Given the description of an element on the screen output the (x, y) to click on. 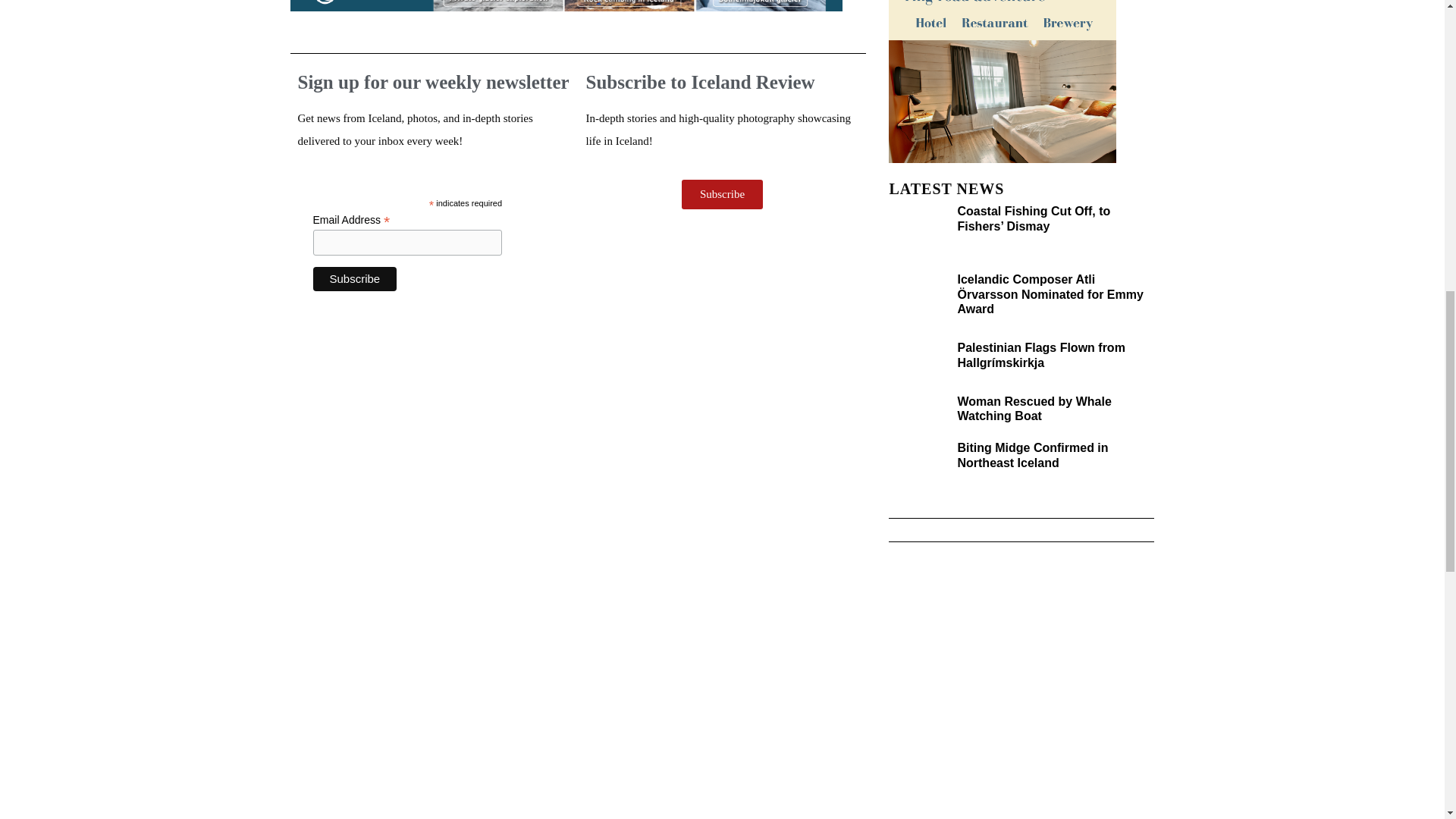
Woman Rescued by Whale Watching Boat (1033, 408)
Biting Midge Confirmed in Northeast Iceland (1032, 454)
Subscribe (354, 278)
